Given the description of an element on the screen output the (x, y) to click on. 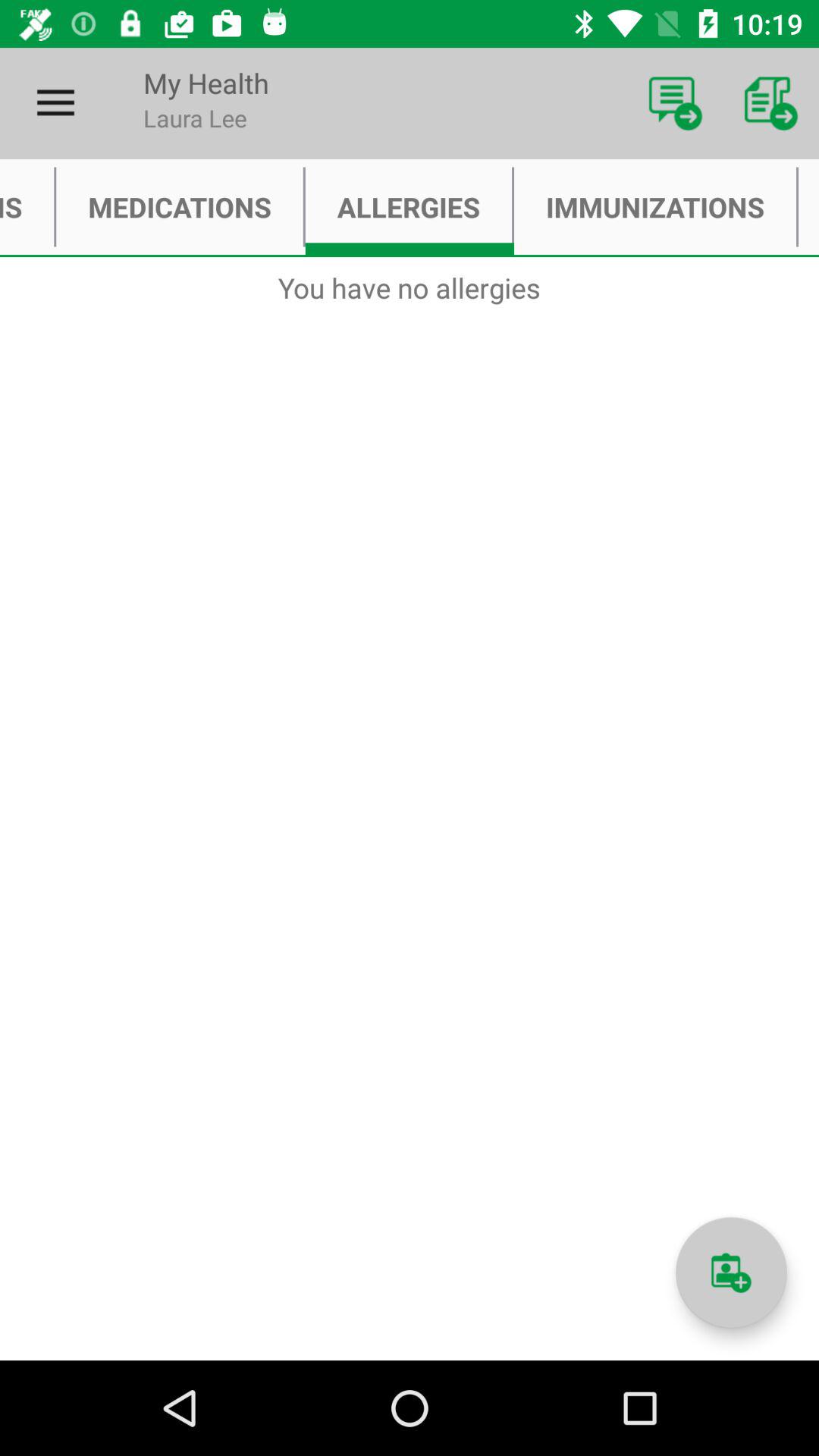
notes (731, 1272)
